Given the description of an element on the screen output the (x, y) to click on. 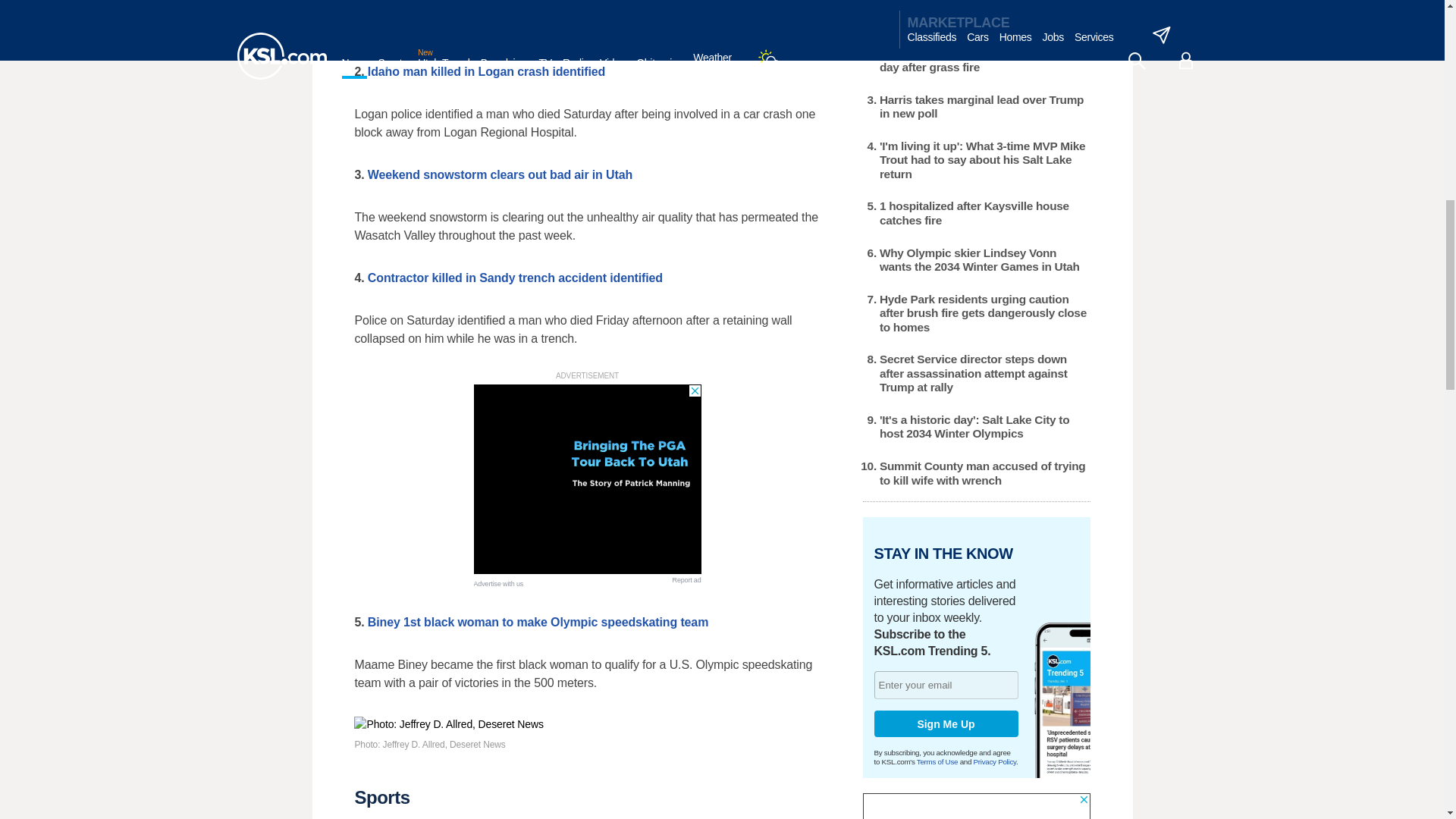
Photo: Jeffrey D. Allred, Deseret News (586, 724)
3rd party ad content (586, 479)
3rd party ad content (976, 806)
